Given the description of an element on the screen output the (x, y) to click on. 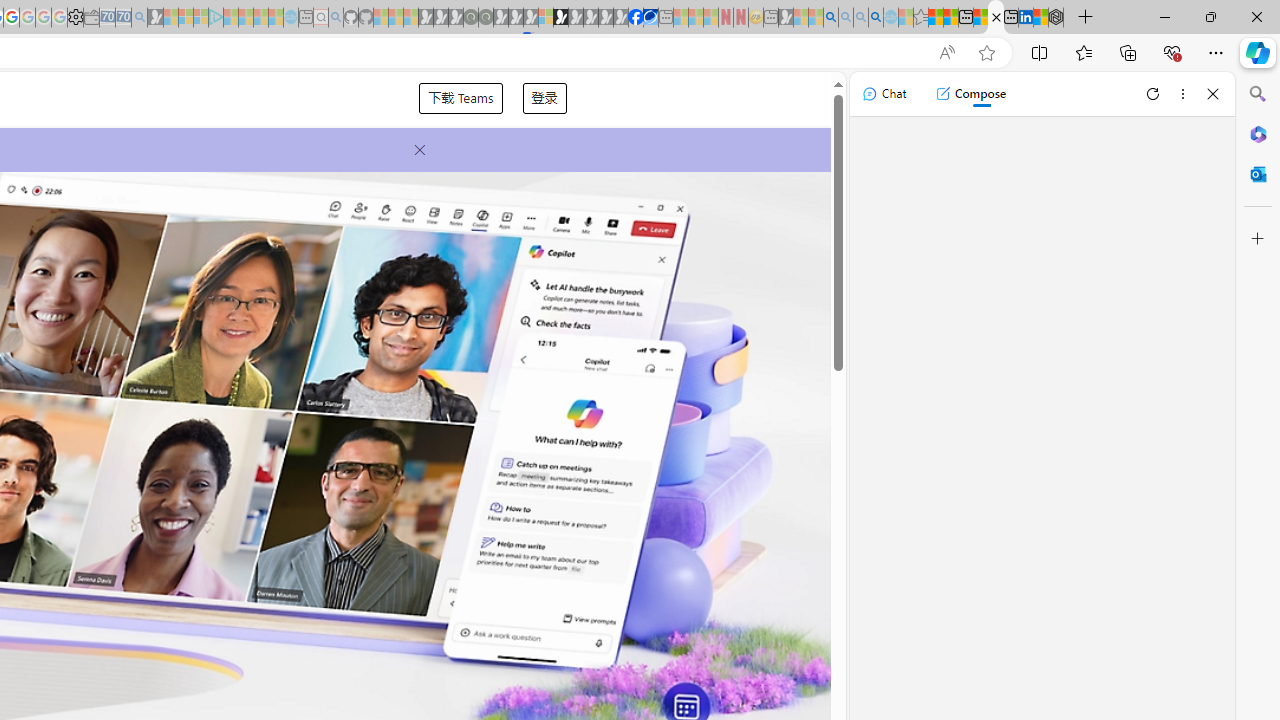
Bing Real Estate - Home sales and rental listings - Sleeping (139, 17)
Nordace - Summer Adventures 2024 (1055, 17)
LinkedIn (1025, 17)
Chat (884, 93)
Future Focus Report 2024 - Sleeping (485, 17)
Close Customize pane (1258, 239)
